Given the description of an element on the screen output the (x, y) to click on. 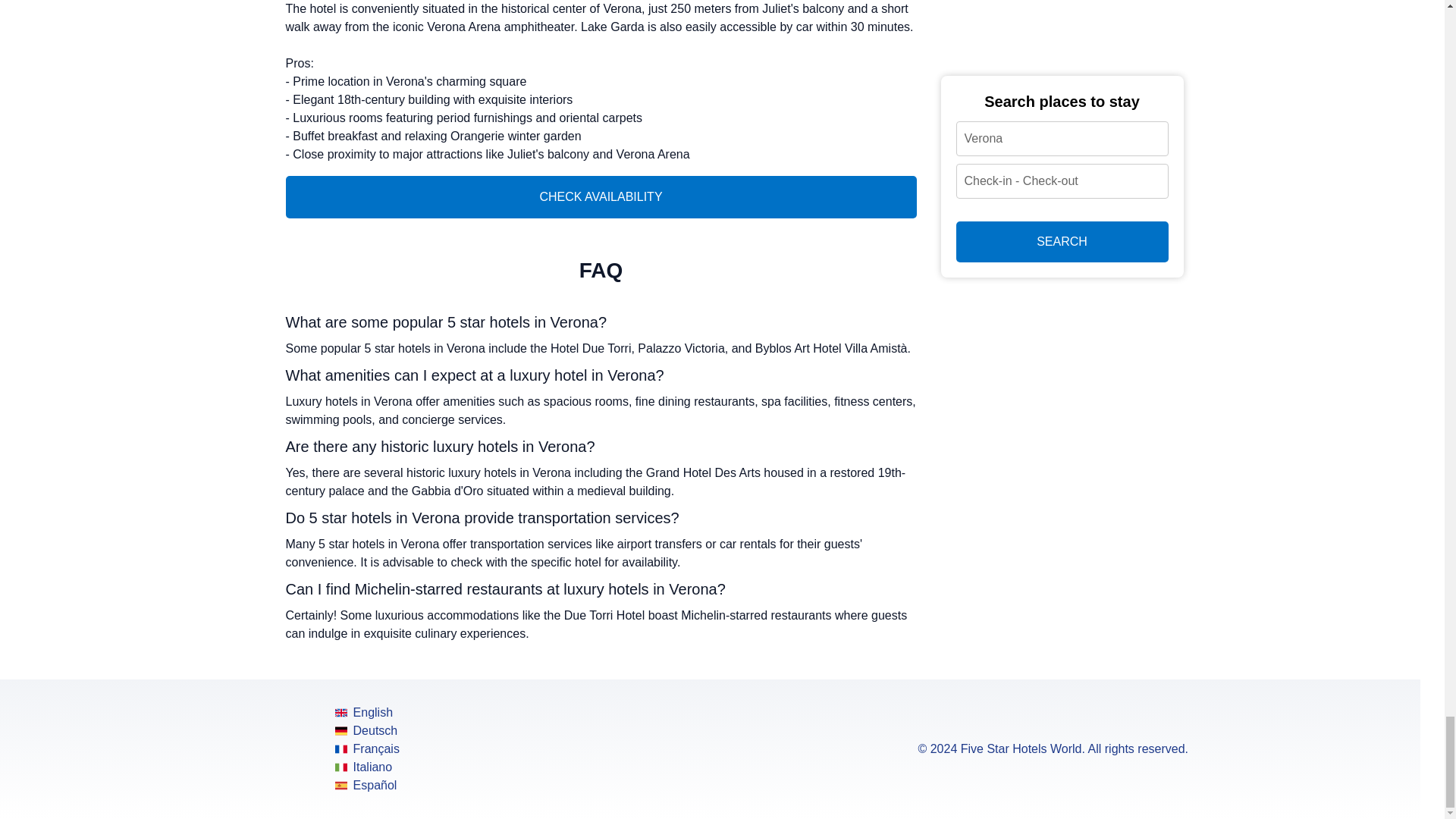
Italiano (366, 767)
English (366, 712)
Deutsch (366, 730)
